Given the description of an element on the screen output the (x, y) to click on. 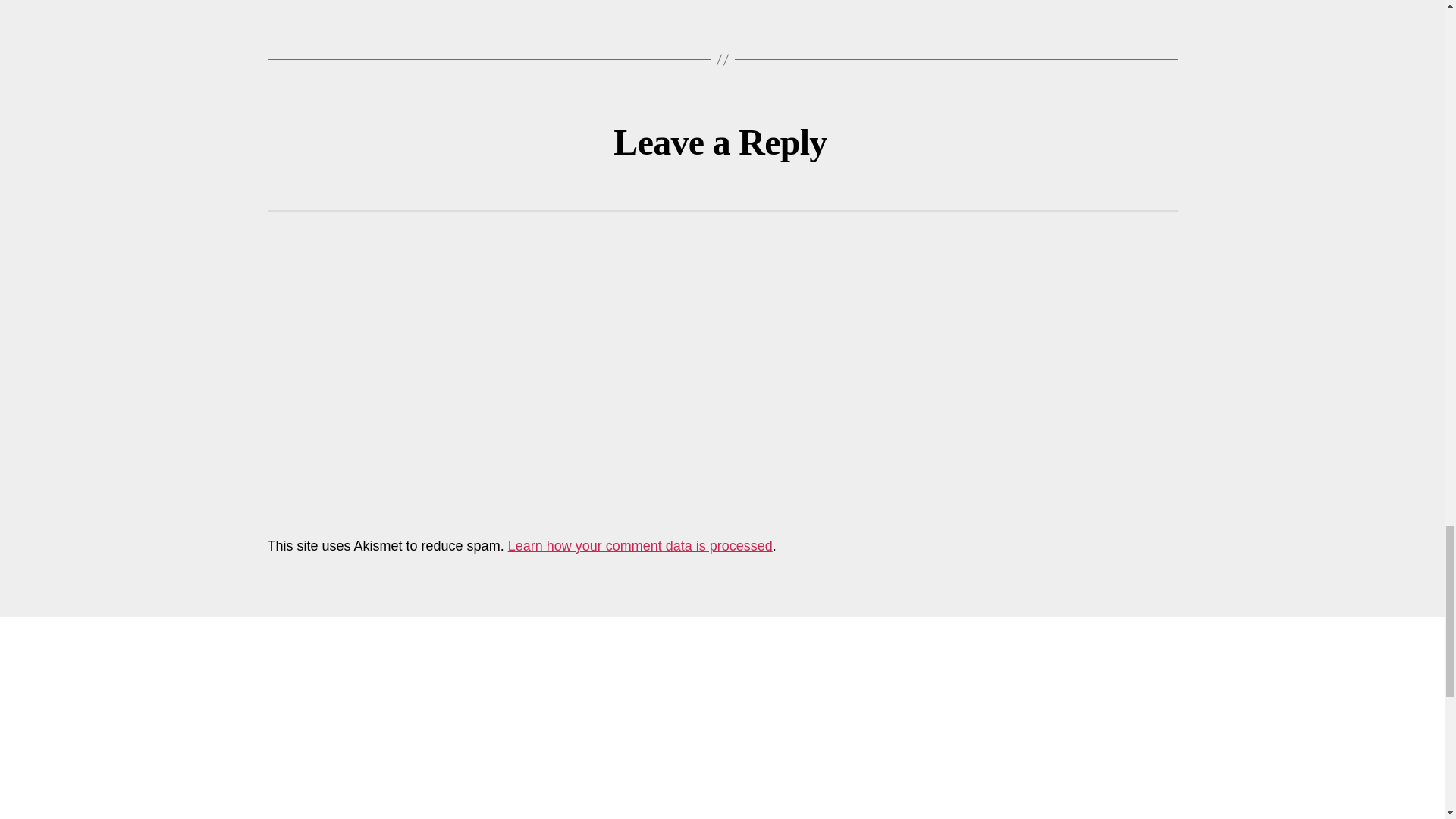
Antiquity (902, 791)
19th Century (914, 748)
American Civil War (980, 771)
British Empire (1047, 791)
18th Century (793, 750)
Learn how your comment data is processed (640, 545)
Africa (873, 772)
21st Century (794, 771)
Asia (963, 791)
